Given the description of an element on the screen output the (x, y) to click on. 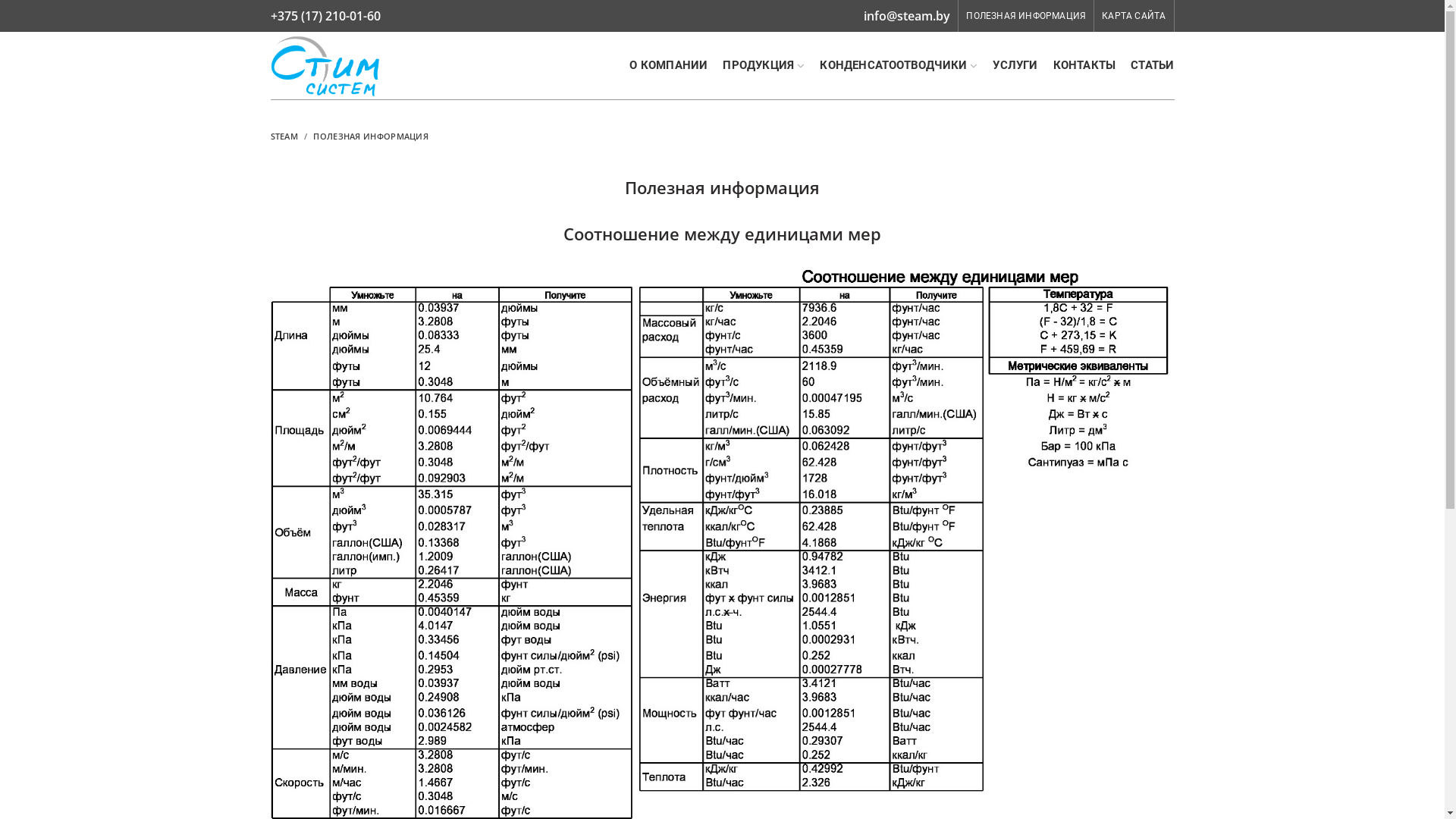
STEAM Element type: text (283, 135)
